Given the description of an element on the screen output the (x, y) to click on. 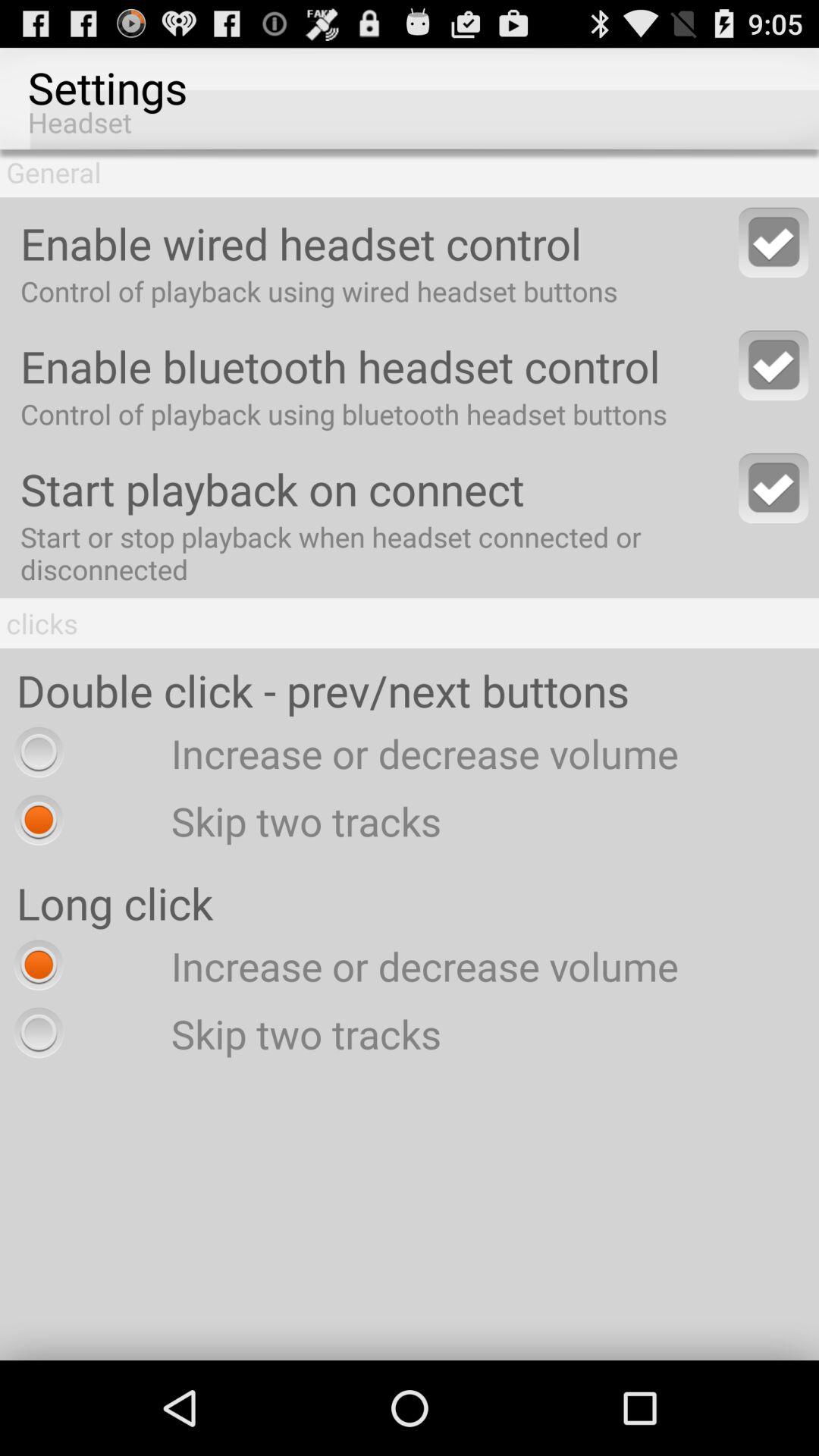
select this option (773, 488)
